Given the description of an element on the screen output the (x, y) to click on. 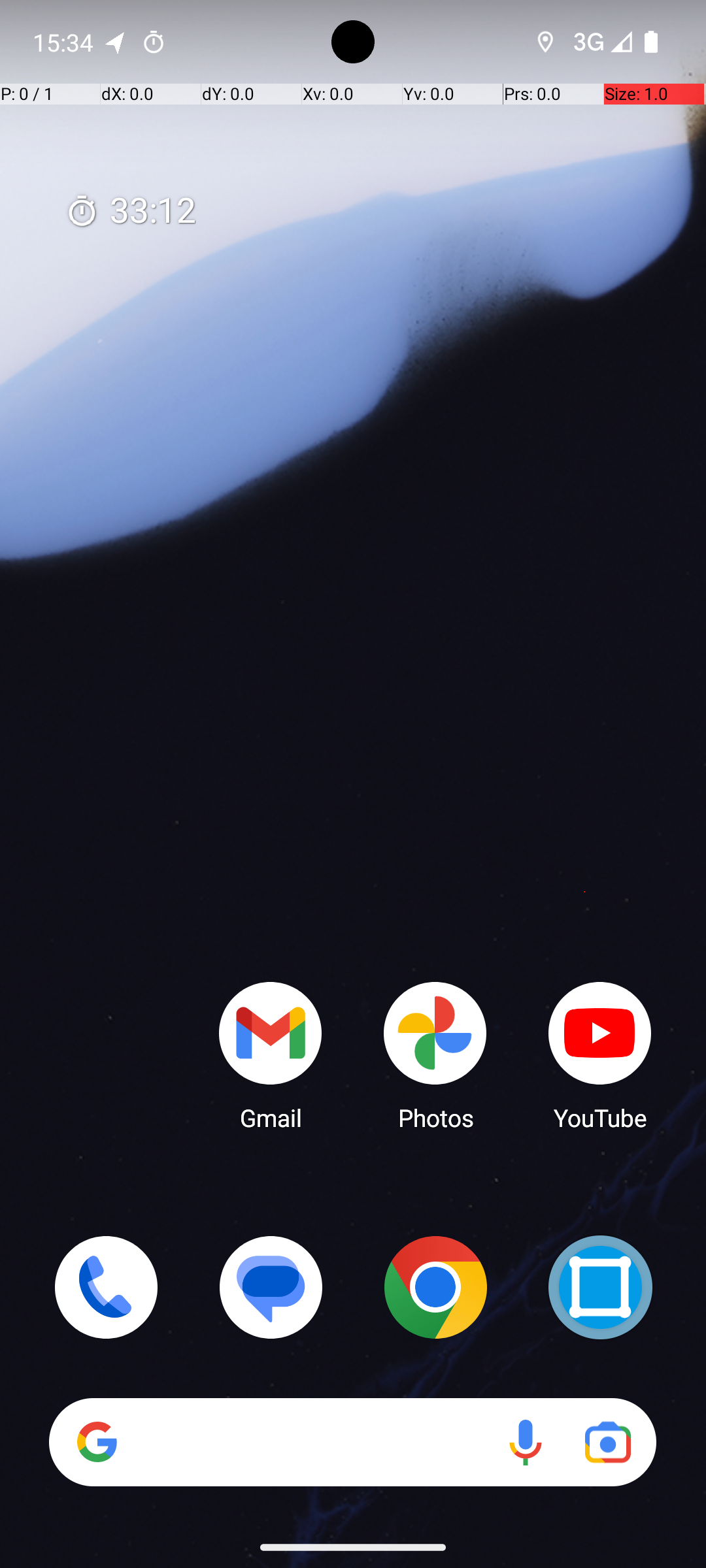
33:12 Element type: android.widget.TextView (130, 210)
